Given the description of an element on the screen output the (x, y) to click on. 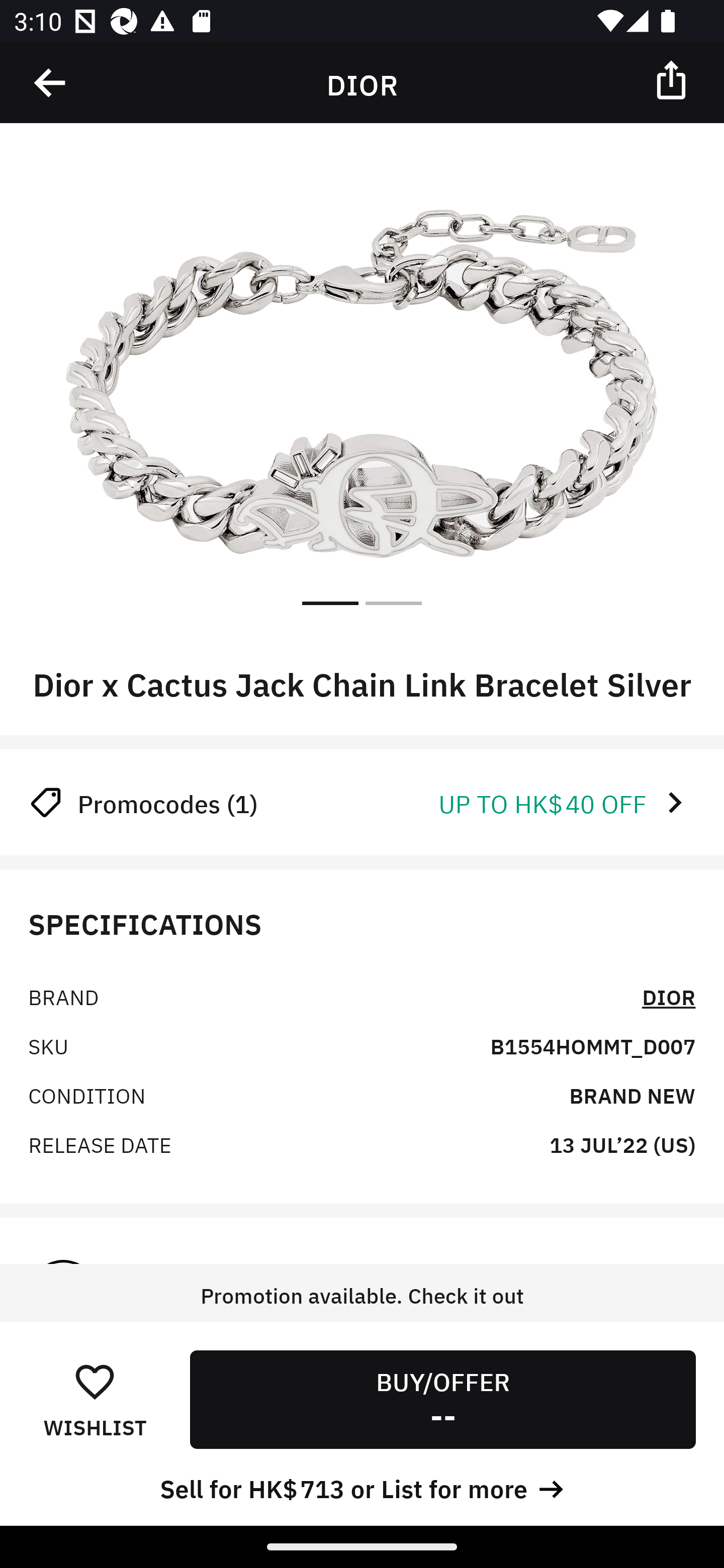
 (50, 83)
 (672, 79)
Promocodes (1) UP TO HK$ 40 OFF  (361, 801)
DIOR (668, 995)
B1554HOMMT_D007 (592, 1045)
BRAND NEW (632, 1094)
13 JUL’22 (US) (622, 1143)
BUY/OFFER -- (442, 1399)
󰋕 (94, 1380)
Sell for HK$ 713 or List for more (361, 1486)
